Given the description of an element on the screen output the (x, y) to click on. 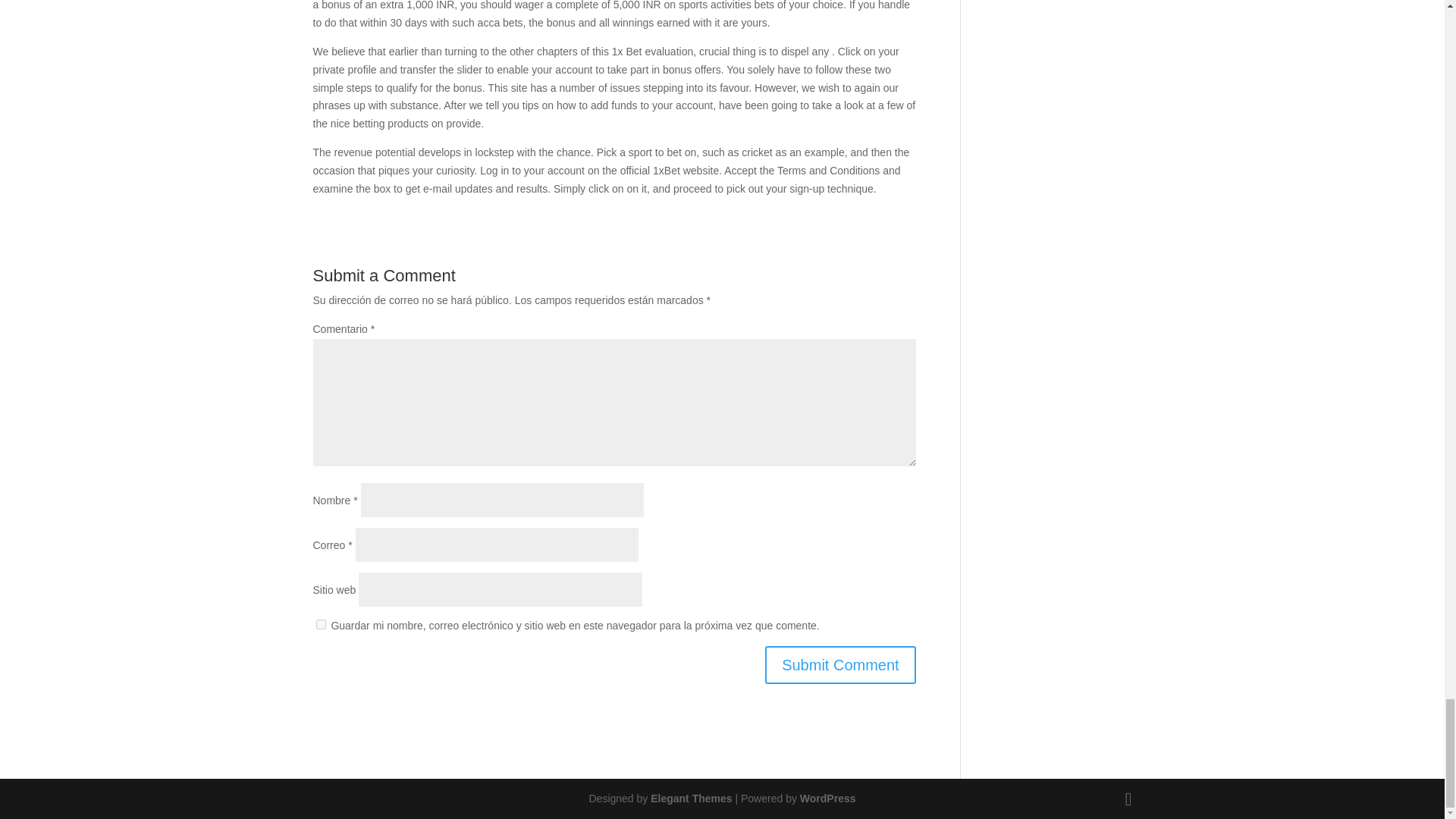
yes (319, 624)
Submit Comment (840, 664)
Premium WordPress Themes (691, 798)
WordPress (827, 798)
Submit Comment (840, 664)
Elegant Themes (691, 798)
